Given the description of an element on the screen output the (x, y) to click on. 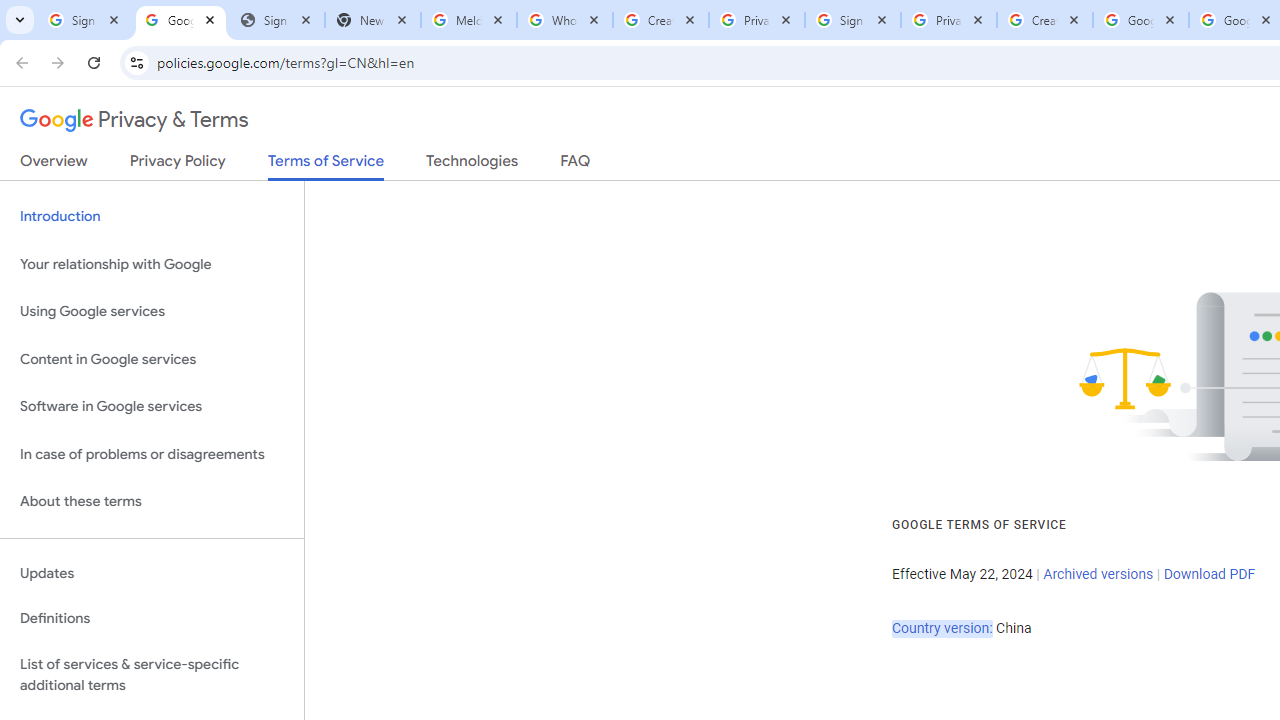
Updates (152, 573)
Who is my administrator? - Google Account Help (565, 20)
Your relationship with Google (152, 263)
Content in Google services (152, 358)
Terms of Service (326, 166)
New Tab (373, 20)
Create your Google Account (1045, 20)
Privacy & Terms (134, 120)
